Given the description of an element on the screen output the (x, y) to click on. 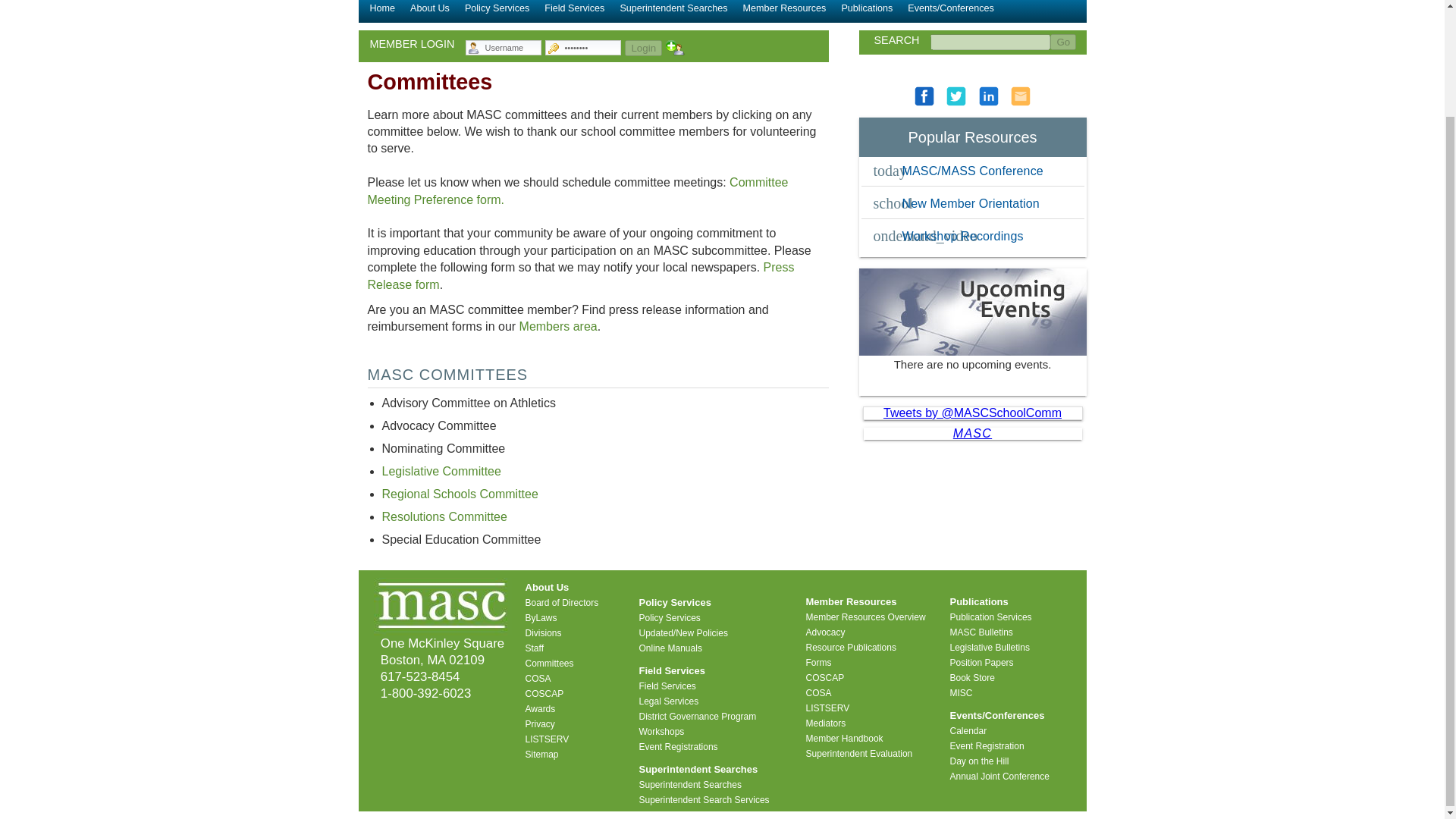
Home (382, 13)
Username (512, 47)
Login (643, 48)
About MASC (429, 13)
Create an account (674, 47)
Password (592, 47)
About Us (429, 13)
